Given the description of an element on the screen output the (x, y) to click on. 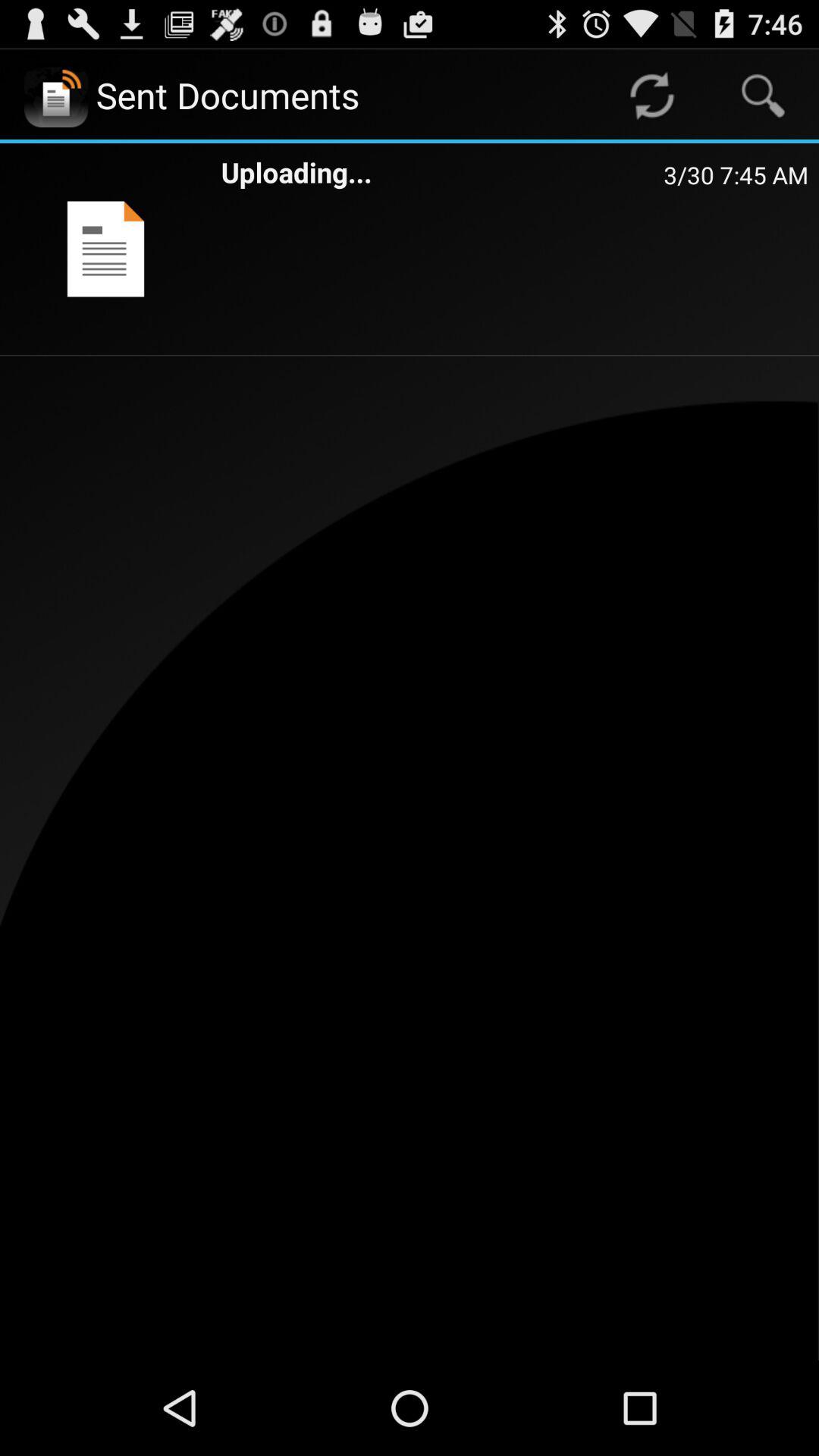
open uploading... (442, 172)
